Given the description of an element on the screen output the (x, y) to click on. 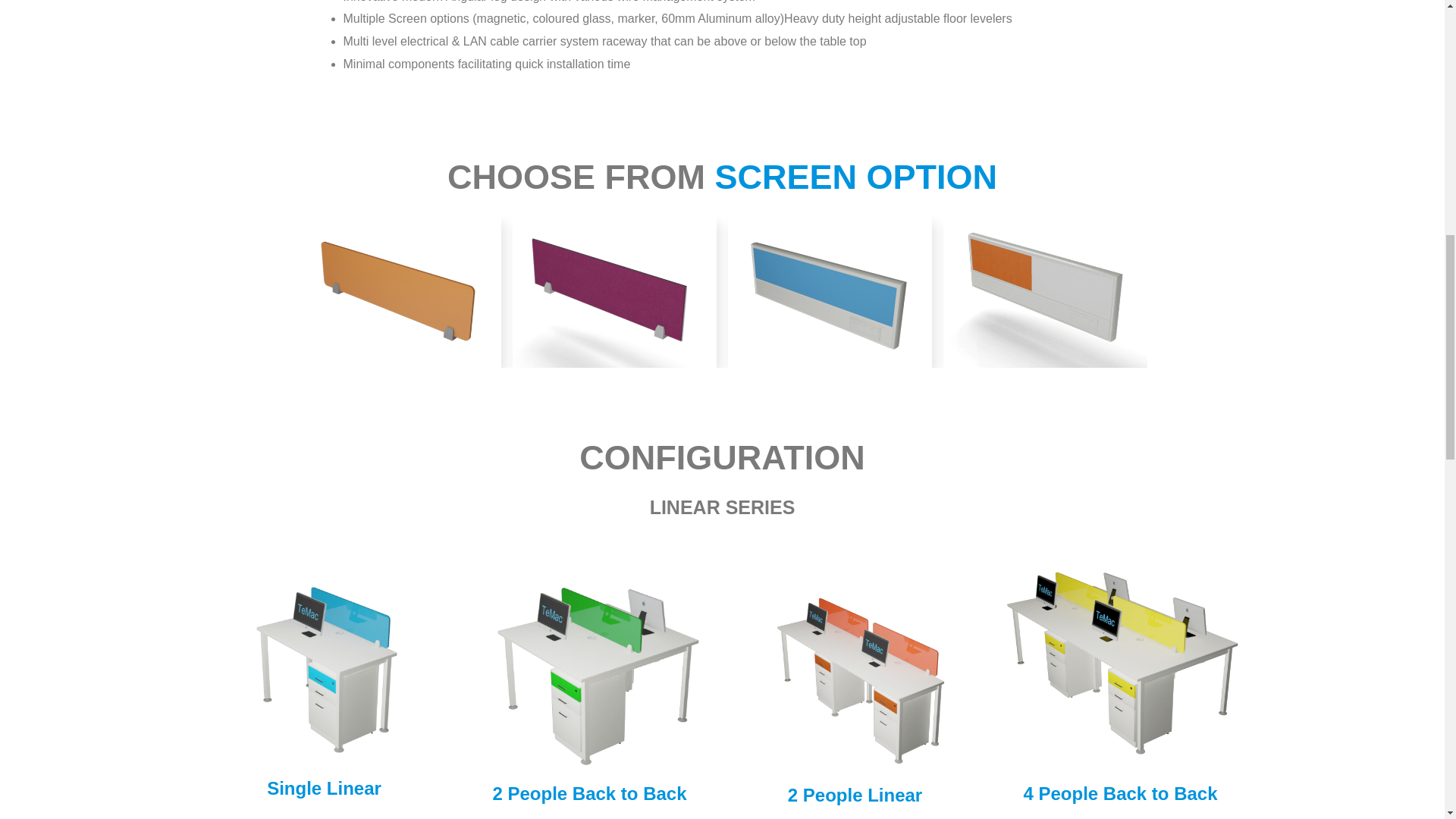
1 (398, 291)
List Title (829, 291)
List Title (614, 291)
List Title (1045, 291)
